Given the description of an element on the screen output the (x, y) to click on. 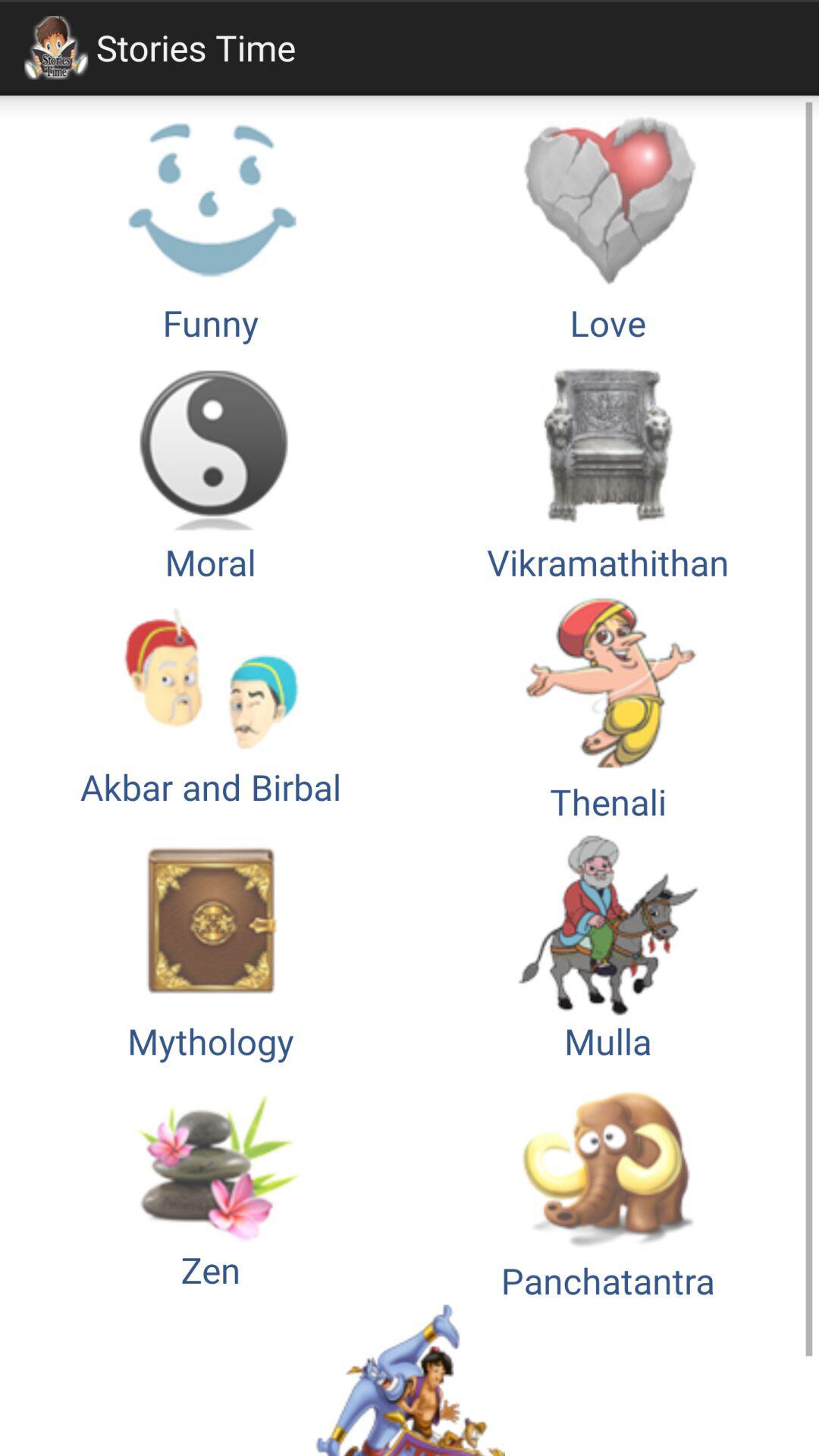
turn off the zen item (210, 1184)
